Given the description of an element on the screen output the (x, y) to click on. 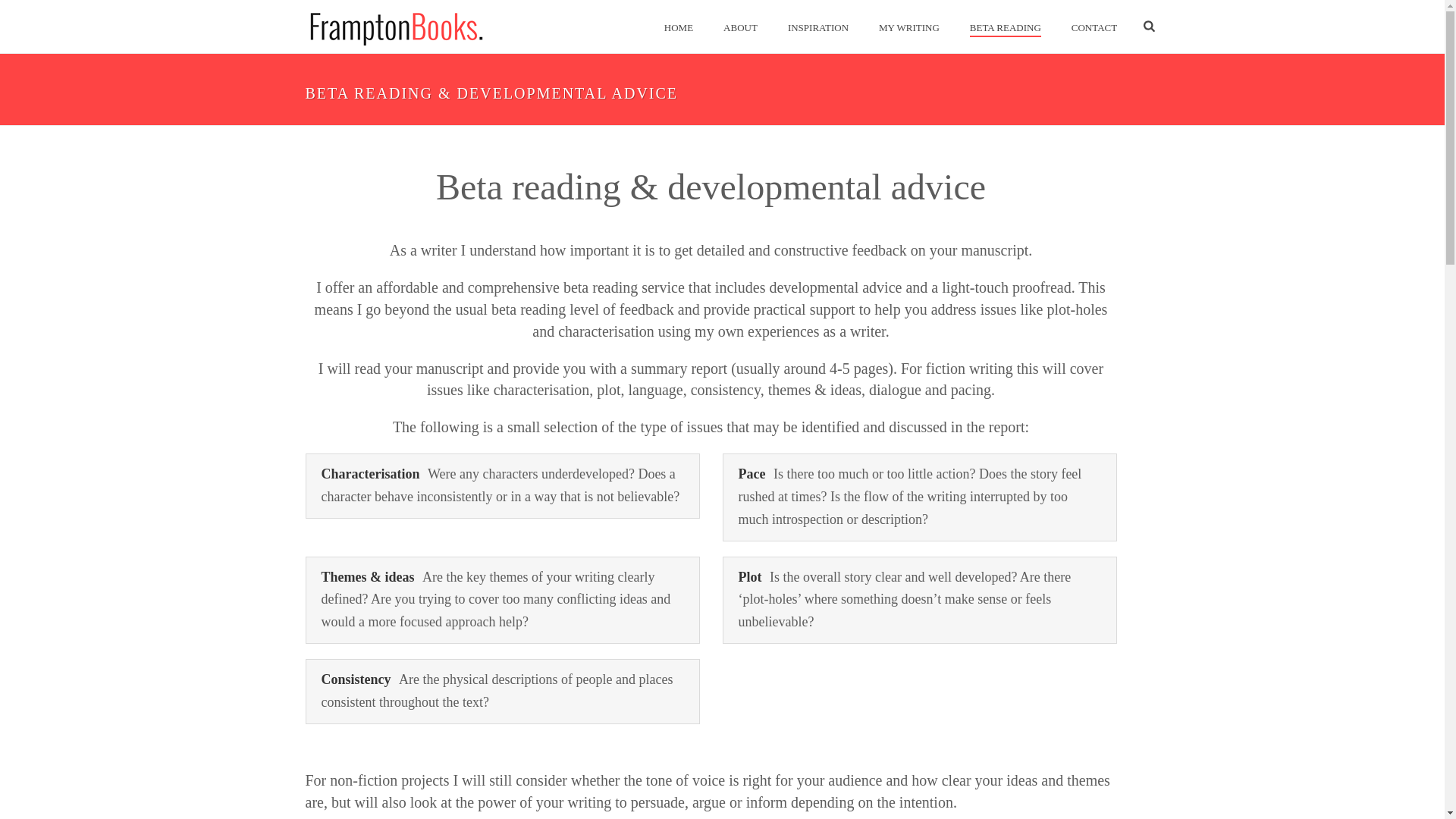
Home (678, 27)
HOME (678, 27)
BETA READING (1006, 27)
CONTACT (1094, 27)
MY WRITING (909, 27)
CONTACT (1094, 27)
HOME (678, 27)
ABOUT (740, 27)
MY WRITING (909, 27)
BETA READING (1006, 27)
ABOUT (740, 27)
INSPIRATION (818, 27)
INSPIRATION (818, 27)
